Given the description of an element on the screen output the (x, y) to click on. 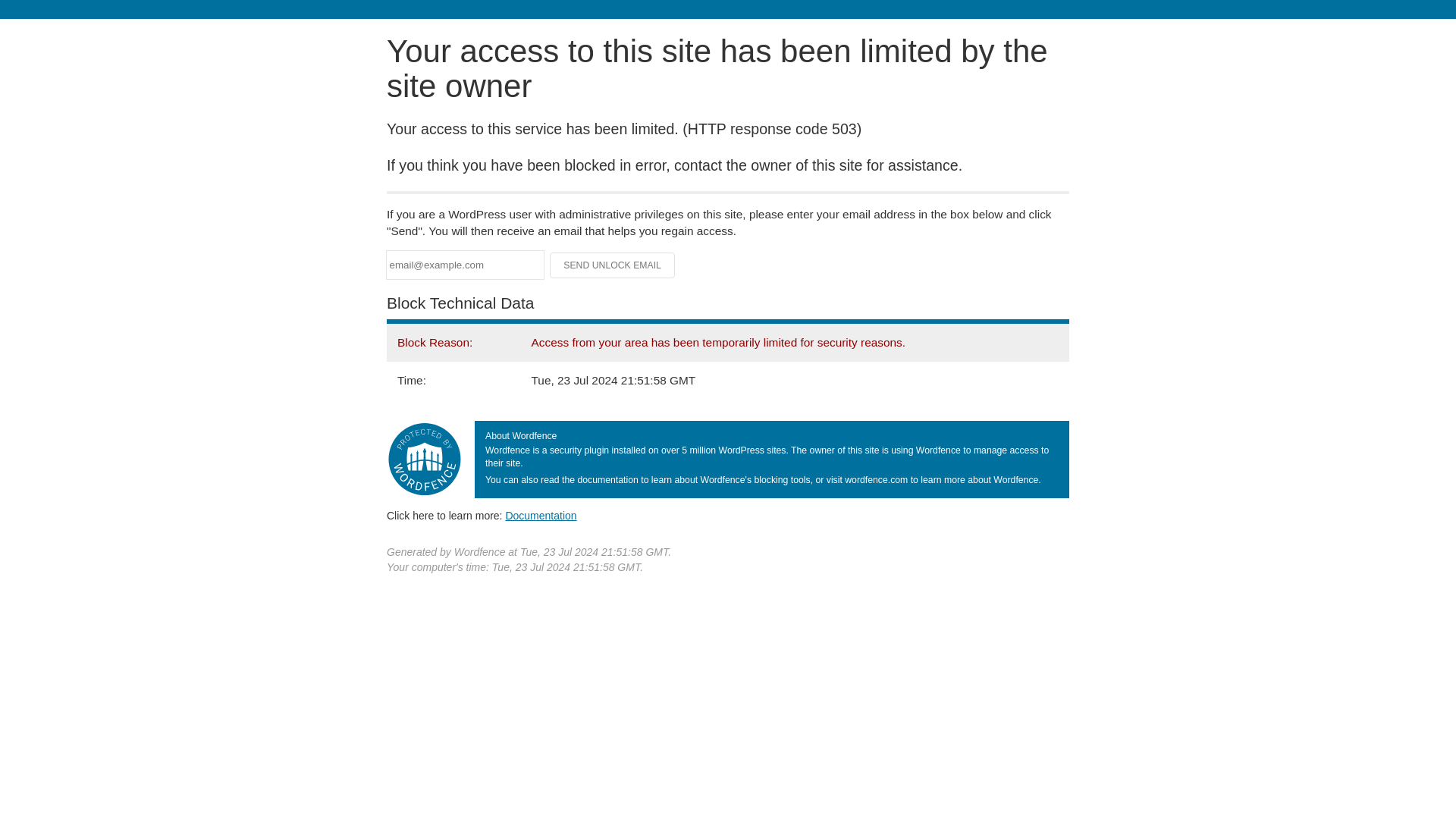
Send Unlock Email (612, 265)
Documentation (540, 515)
Send Unlock Email (612, 265)
